Given the description of an element on the screen output the (x, y) to click on. 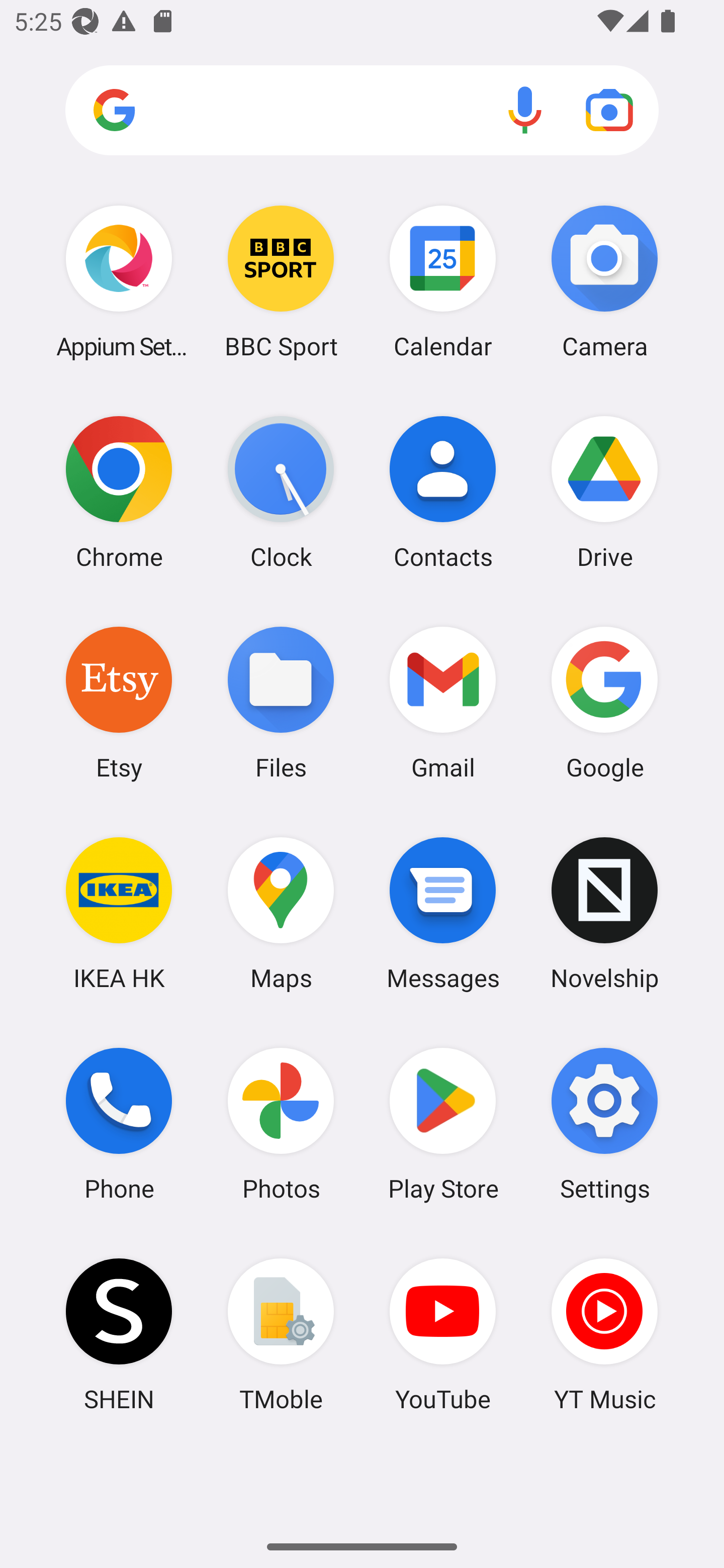
Search apps, web and more (361, 110)
Voice search (524, 109)
Google Lens (608, 109)
Appium Settings (118, 281)
BBC Sport (280, 281)
Calendar (443, 281)
Camera (604, 281)
Chrome (118, 492)
Clock (280, 492)
Contacts (443, 492)
Drive (604, 492)
Etsy (118, 702)
Files (280, 702)
Gmail (443, 702)
Google (604, 702)
IKEA HK (118, 913)
Maps (280, 913)
Messages (443, 913)
Novelship (604, 913)
Phone (118, 1124)
Photos (280, 1124)
Play Store (443, 1124)
Settings (604, 1124)
SHEIN (118, 1334)
TMoble (280, 1334)
YouTube (443, 1334)
YT Music (604, 1334)
